Given the description of an element on the screen output the (x, y) to click on. 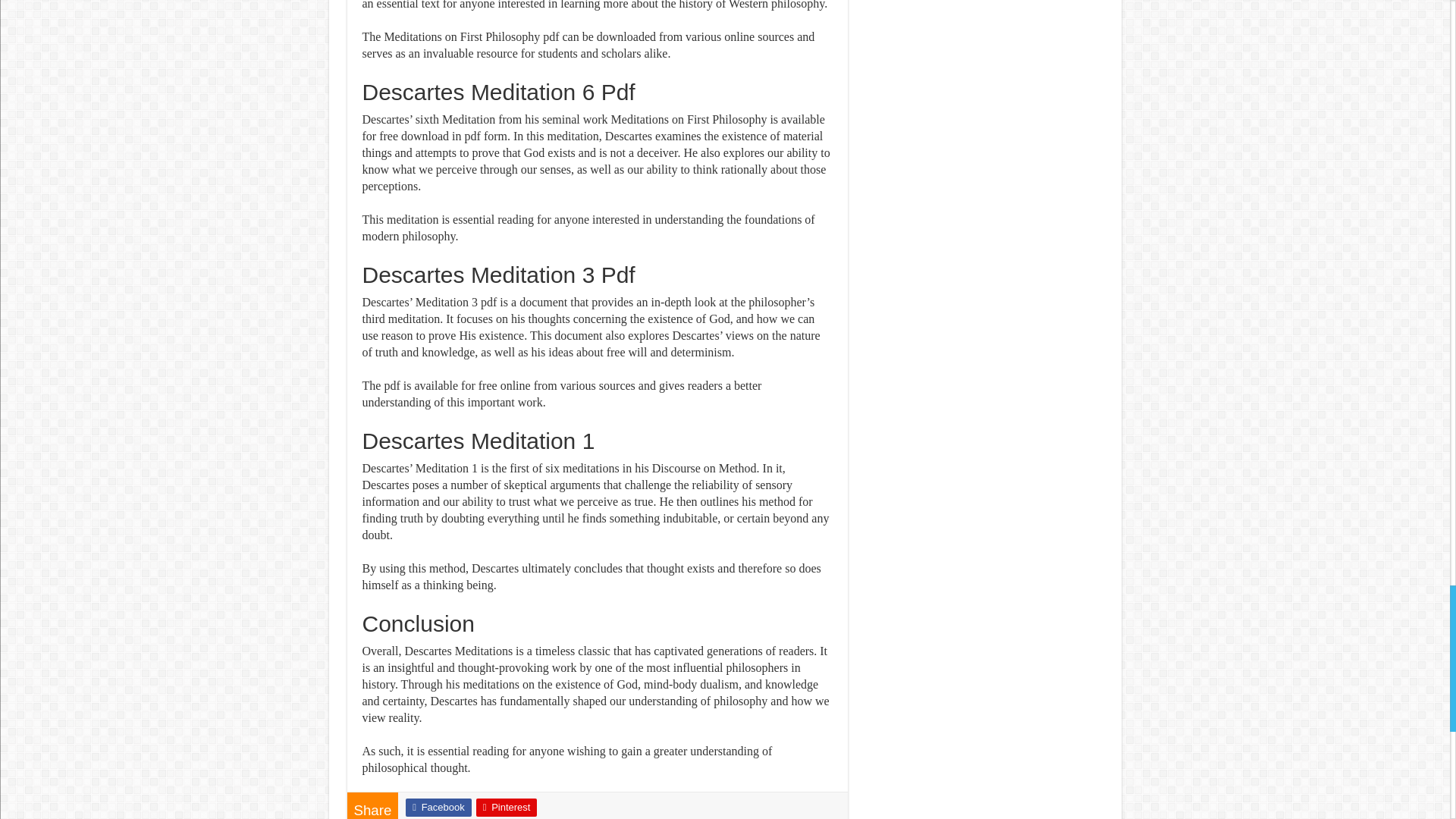
Pinterest (506, 807)
Facebook (438, 807)
